Given the description of an element on the screen output the (x, y) to click on. 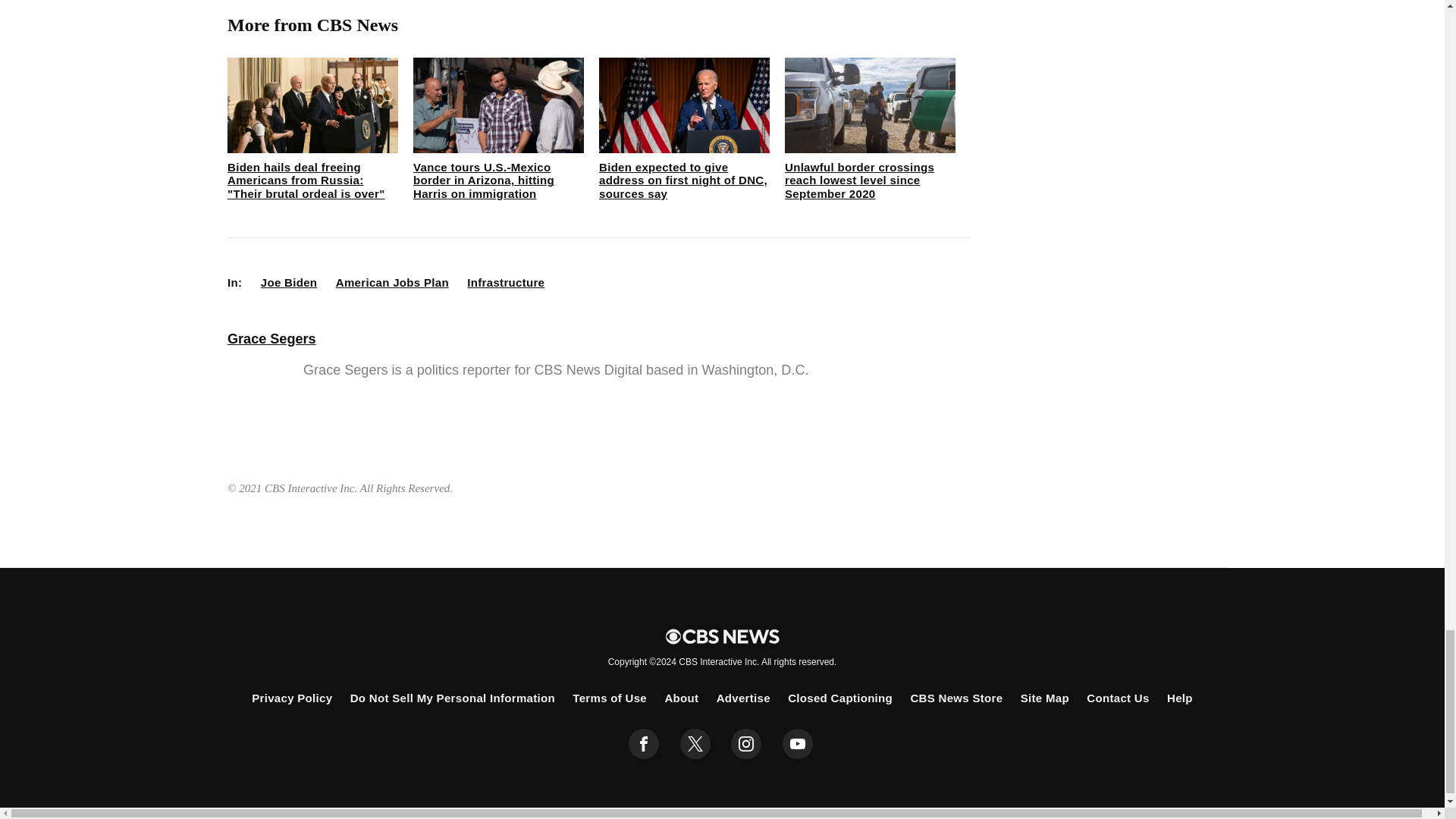
twitter (694, 743)
facebook (643, 743)
instagram (745, 743)
youtube (797, 743)
